Given the description of an element on the screen output the (x, y) to click on. 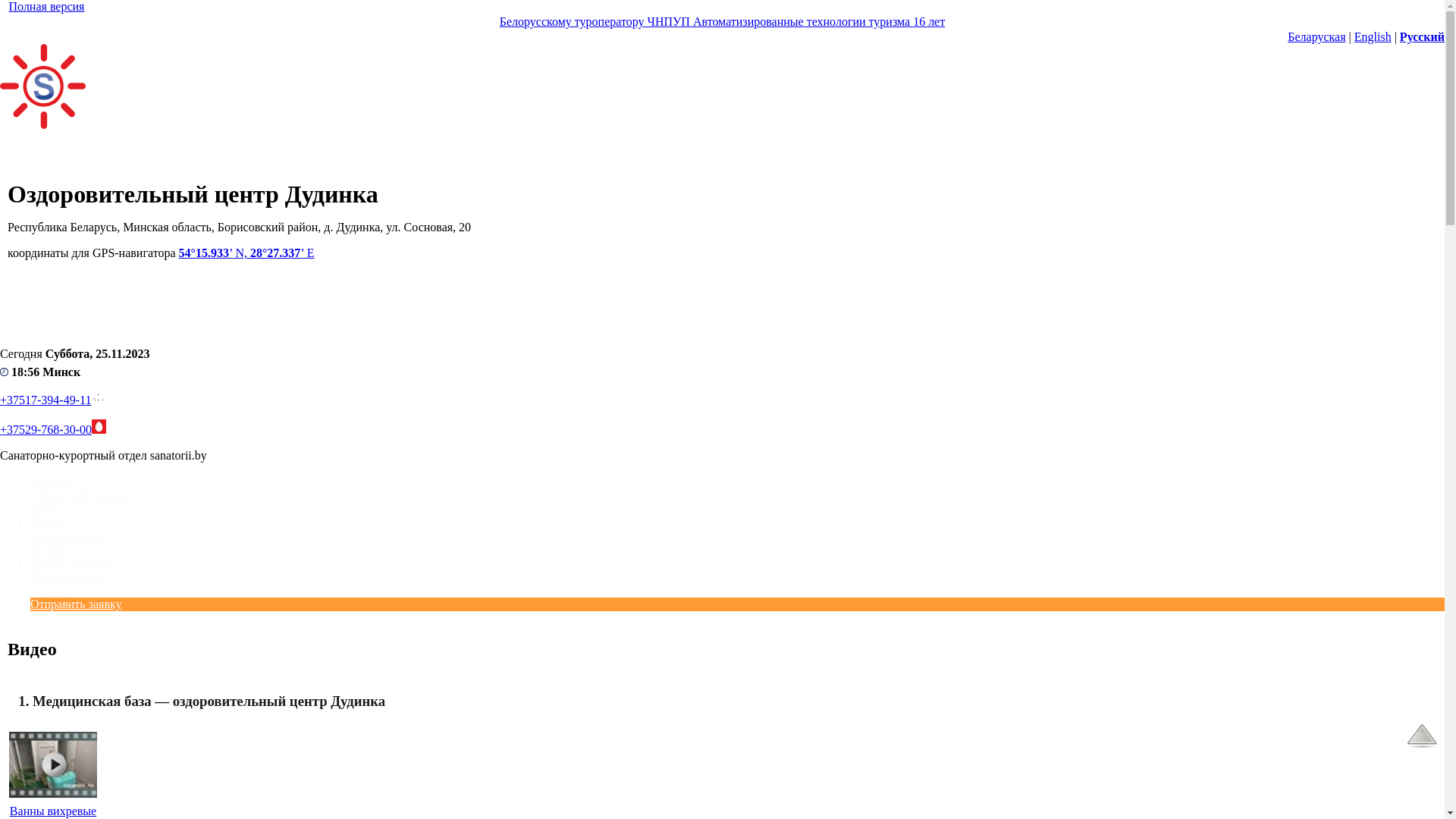
+37517-394-49-11 Element type: text (45, 399)
+37529-768-30-00 Element type: text (45, 429)
English Element type: text (1372, 36)
